Given the description of an element on the screen output the (x, y) to click on. 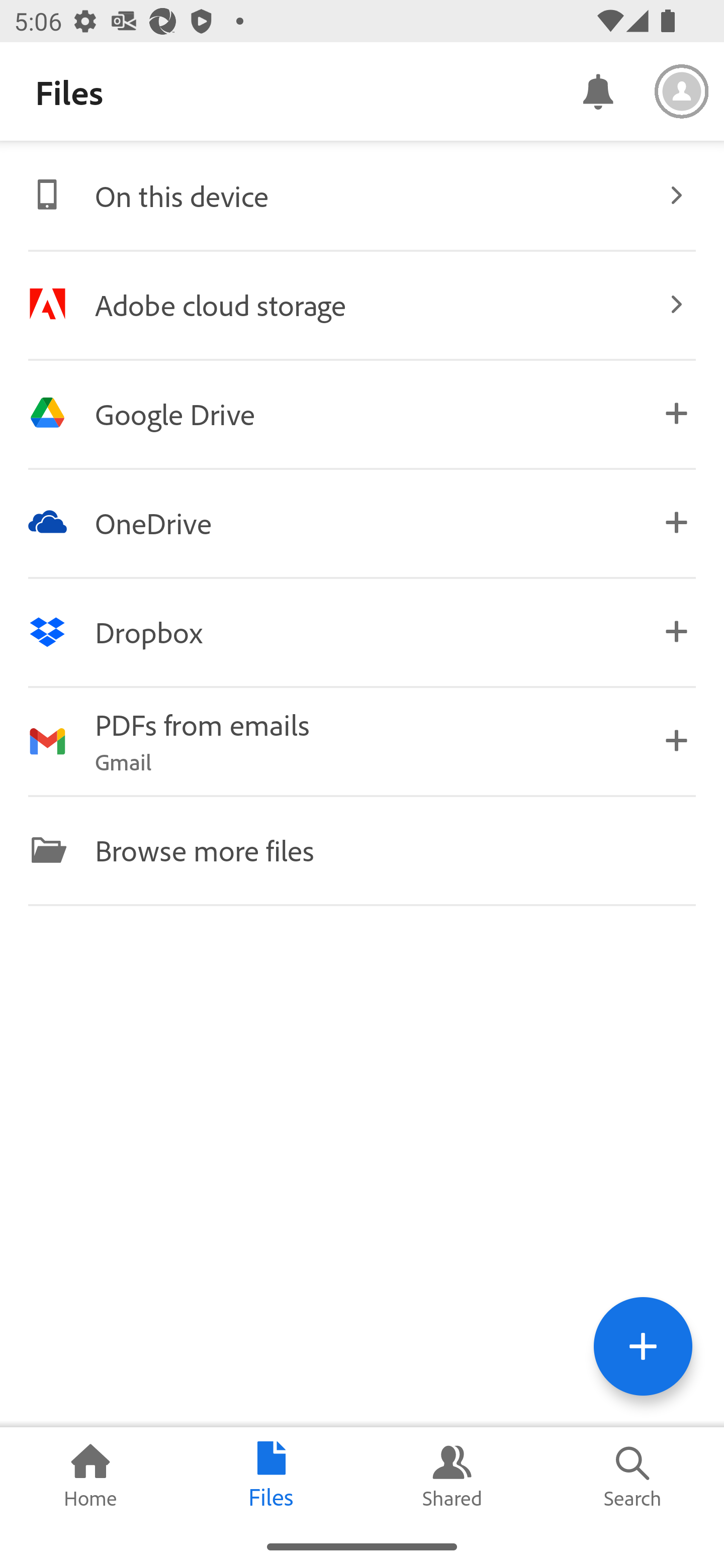
Notifications (597, 90)
Settings (681, 91)
Image On this device (362, 195)
Image Adobe cloud storage (362, 304)
Image Google Drive (362, 413)
Image OneDrive (362, 522)
Image Dropbox (362, 631)
Image PDFs from emails Gmail (362, 740)
Image Browse more files (362, 849)
Tools (642, 1345)
Home (90, 1475)
Files (271, 1475)
Shared (452, 1475)
Search (633, 1475)
